Given the description of an element on the screen output the (x, y) to click on. 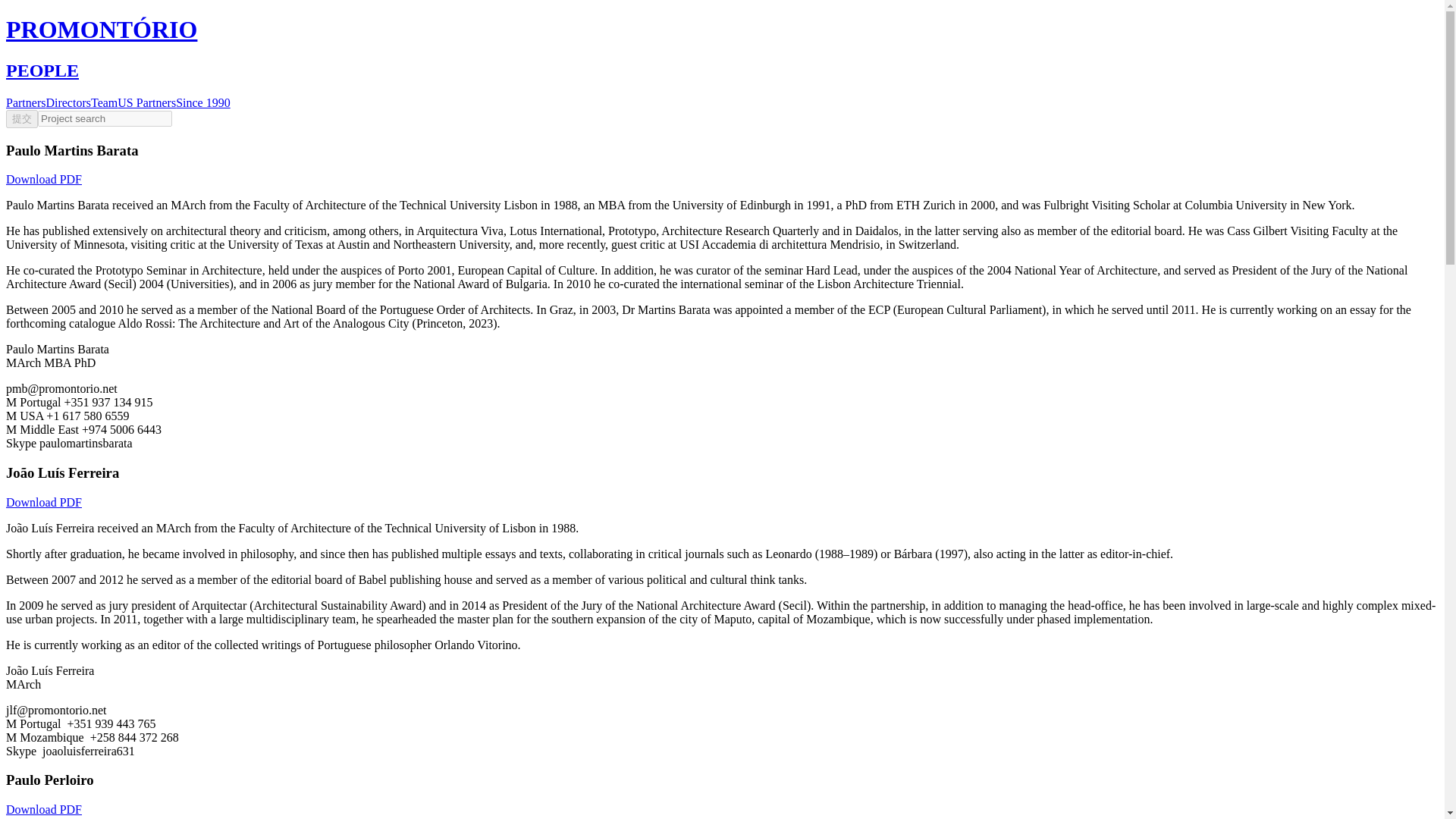
Download PDF (43, 809)
Download PDF (43, 502)
Directors (67, 102)
PEOPLE (41, 70)
Paulo Perloiro (49, 779)
Partners (25, 102)
Download PDF (43, 178)
Paulo Martins Barata (71, 150)
US Partners (146, 102)
Since 1990 (203, 102)
Team (103, 102)
